Given the description of an element on the screen output the (x, y) to click on. 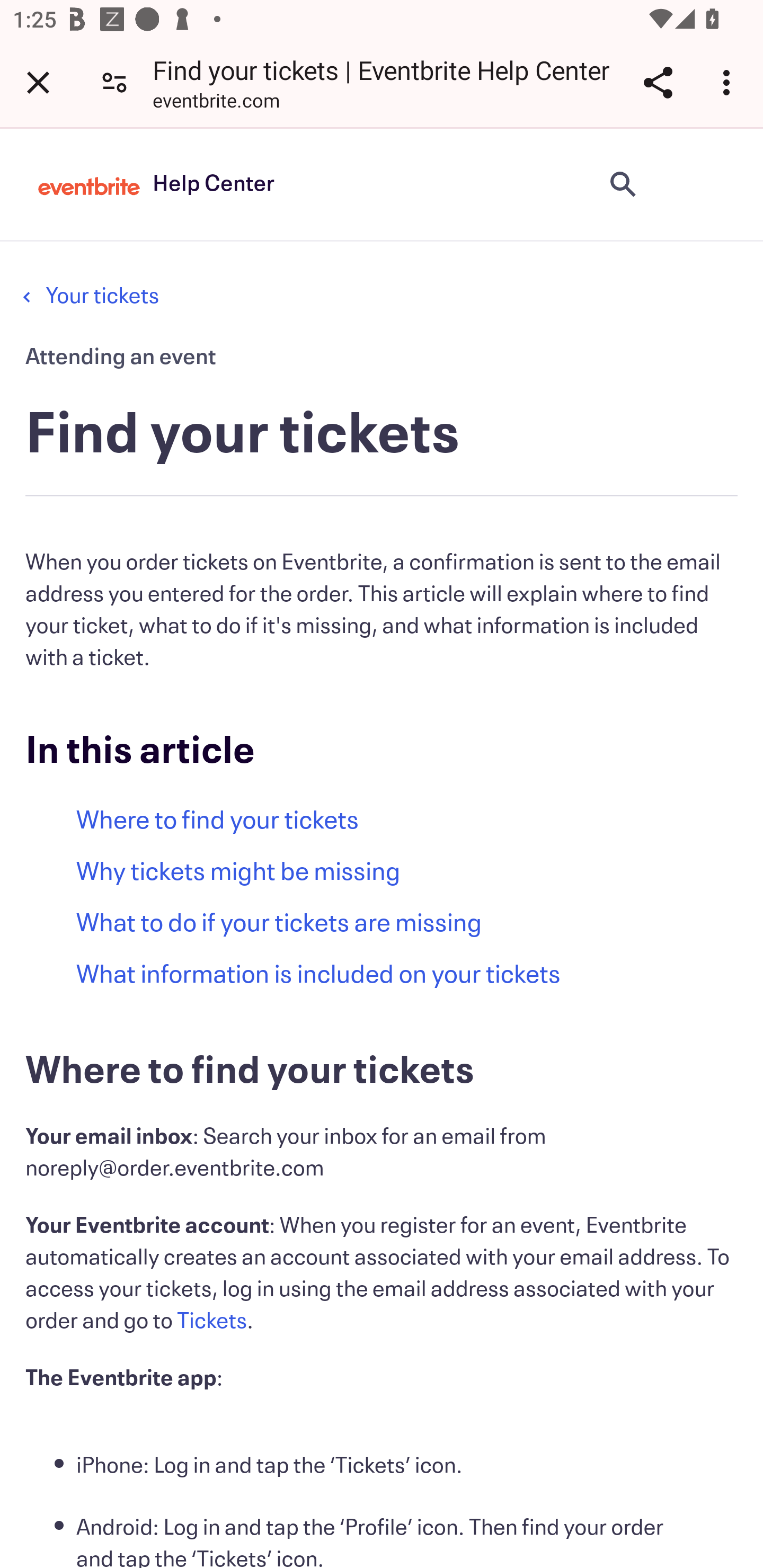
Close tab (38, 82)
Share (657, 82)
Customize and control Google Chrome (729, 82)
Connection is secure (114, 81)
eventbrite.com (216, 103)
Eventbrite Help Center Eventbrite logo Help Center (156, 184)
Your tickets (102, 295)
Tickets (211, 1321)
